Given the description of an element on the screen output the (x, y) to click on. 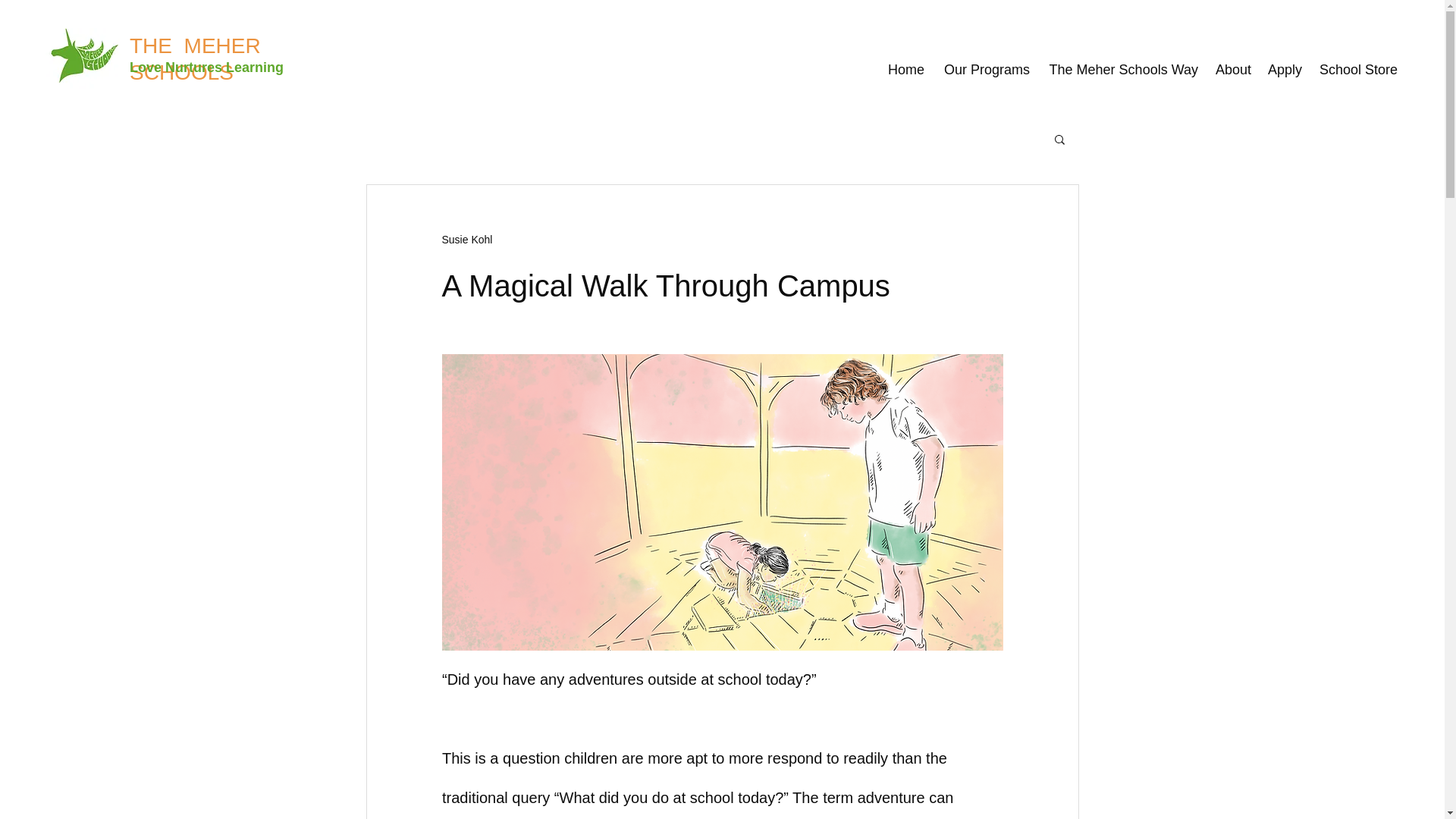
Home (904, 69)
THE  MEHER  SCHOOLS (197, 59)
Love Nurtures Learning (206, 67)
Susie Kohl (466, 239)
Our Programs (983, 69)
School Store (1356, 69)
Susie Kohl (466, 239)
The Meher Schools Way (1120, 69)
